Given the description of an element on the screen output the (x, y) to click on. 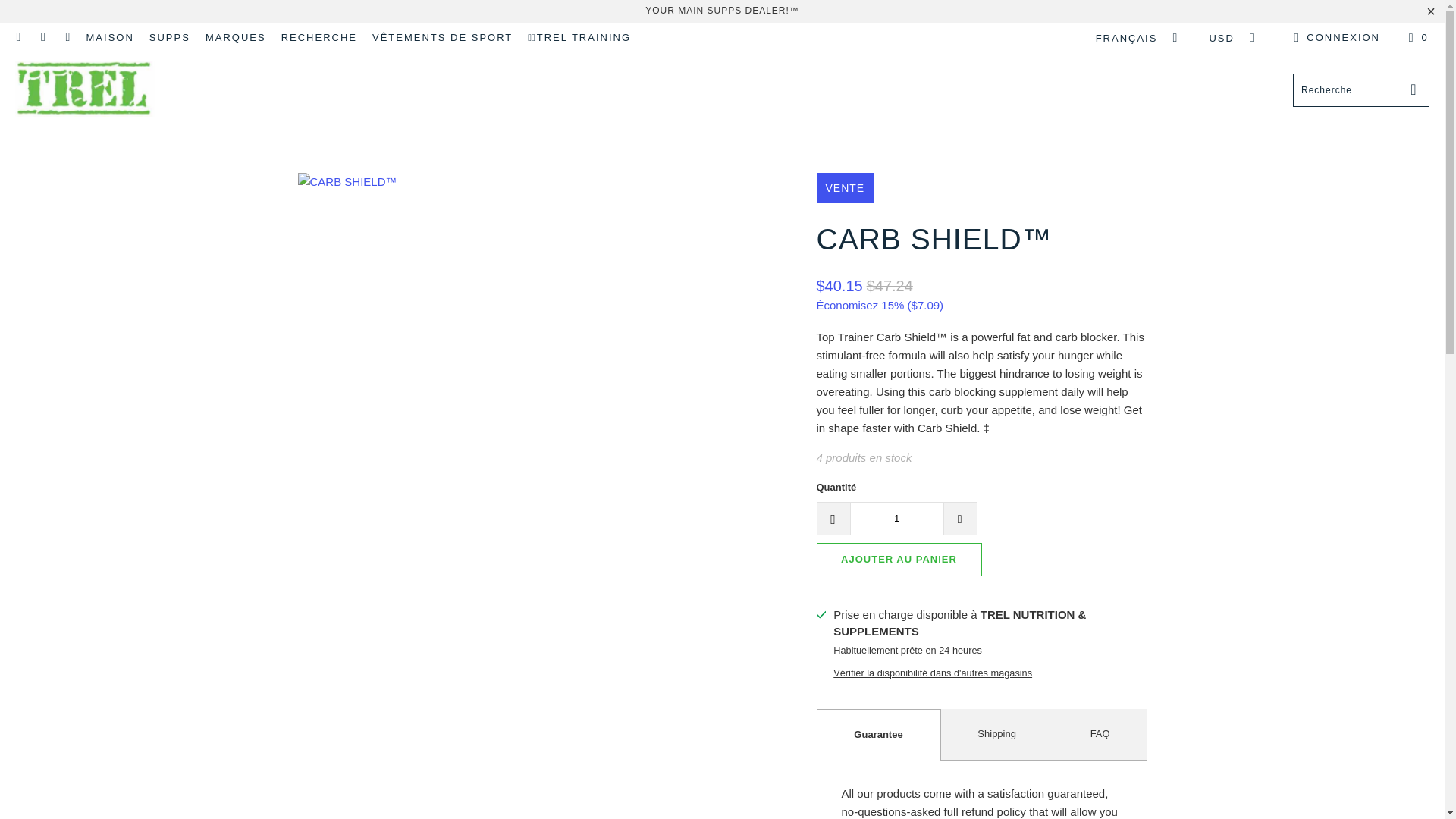
1 (895, 518)
SUPPS (169, 37)
Mon compte  (1334, 37)
MARQUES (235, 37)
RECHERCHE (318, 37)
MAISON (109, 37)
